Given the description of an element on the screen output the (x, y) to click on. 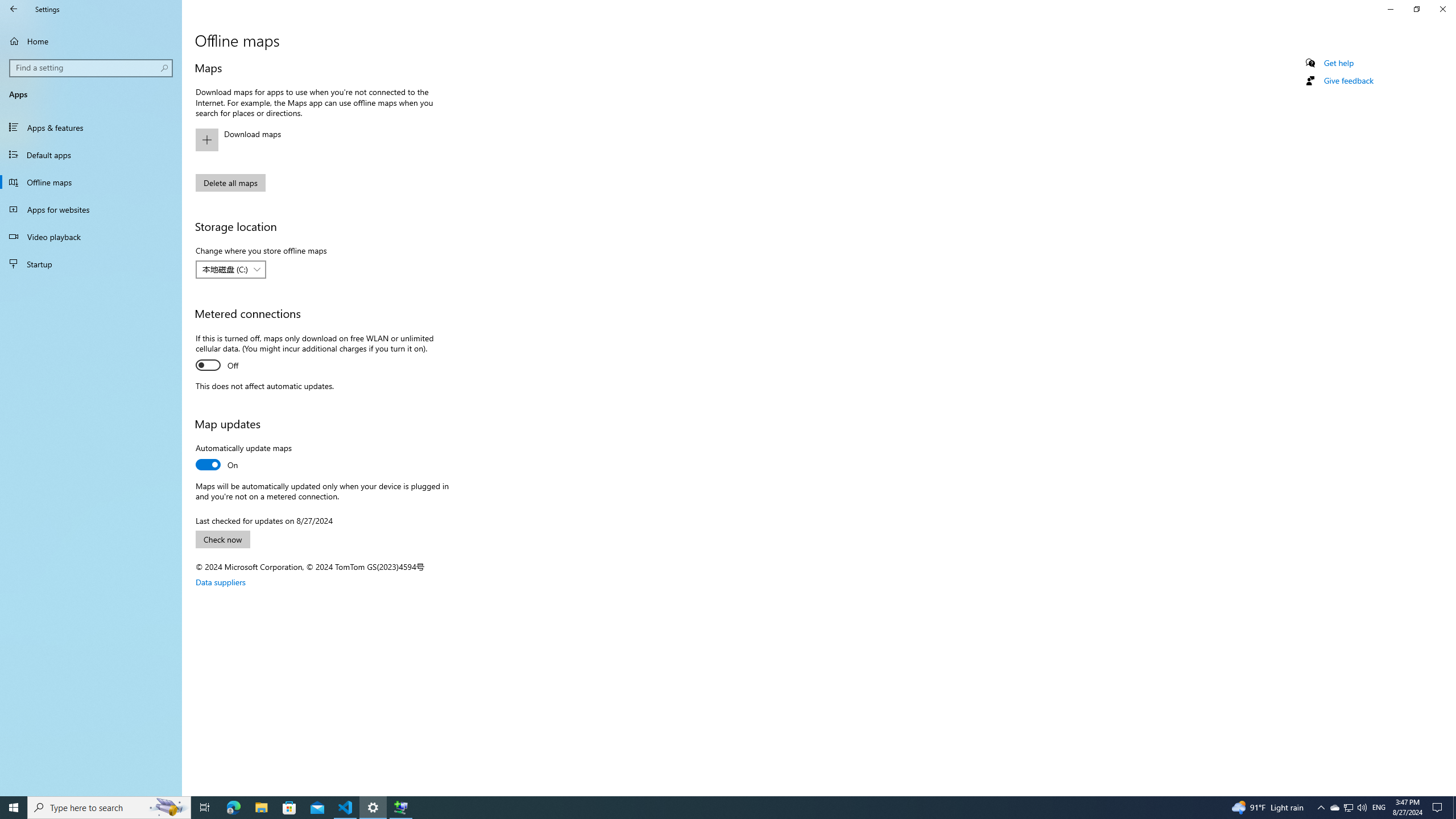
Give feedback (1348, 80)
Apps & features (91, 126)
Offline maps (91, 181)
Search box, Find a setting (91, 67)
Change where you store offline maps (230, 269)
Automatically update maps (243, 457)
